Given the description of an element on the screen output the (x, y) to click on. 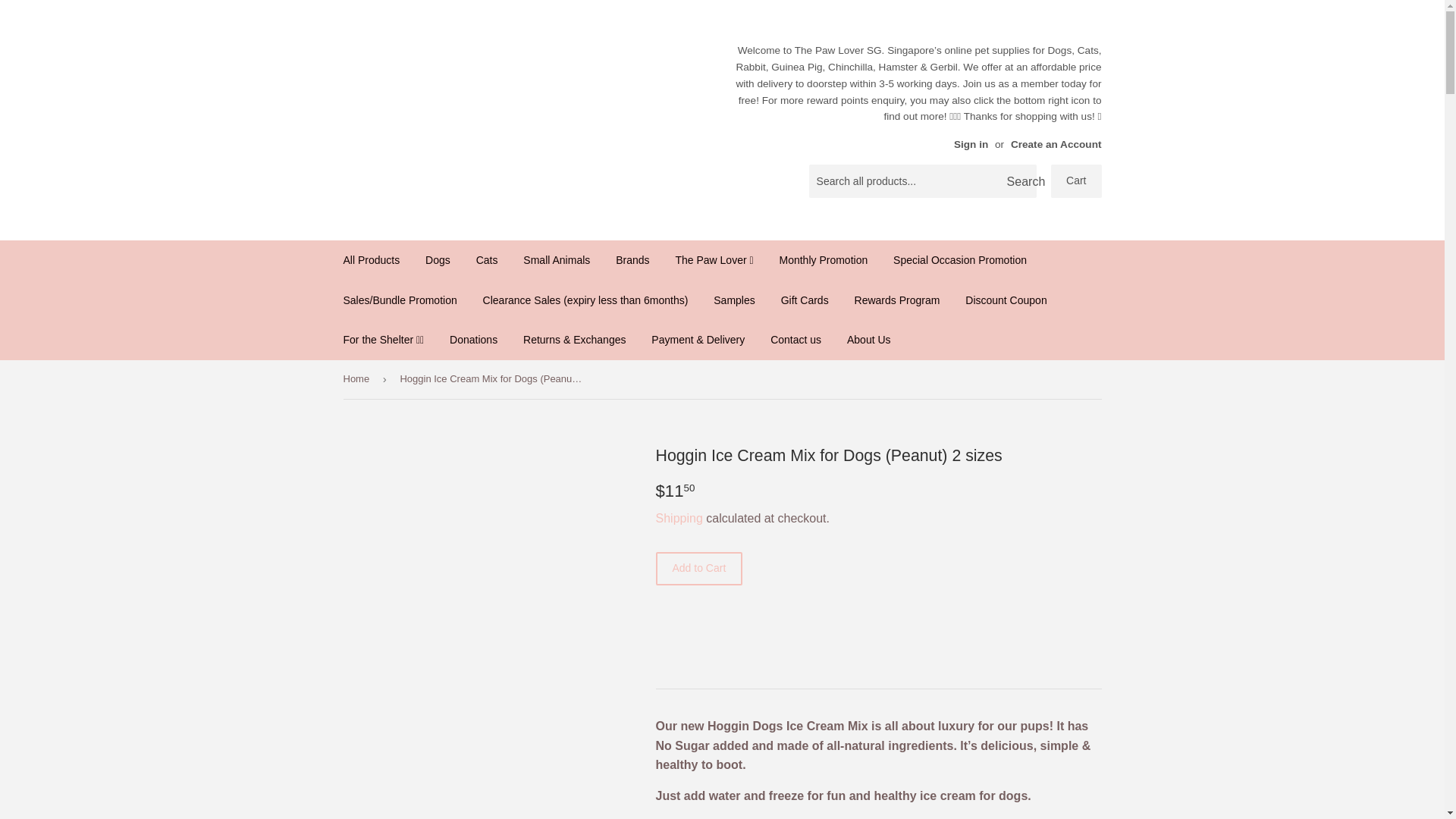
Search (1019, 182)
Create an Account (1056, 143)
Cart (1075, 181)
Sign in (970, 143)
